Given the description of an element on the screen output the (x, y) to click on. 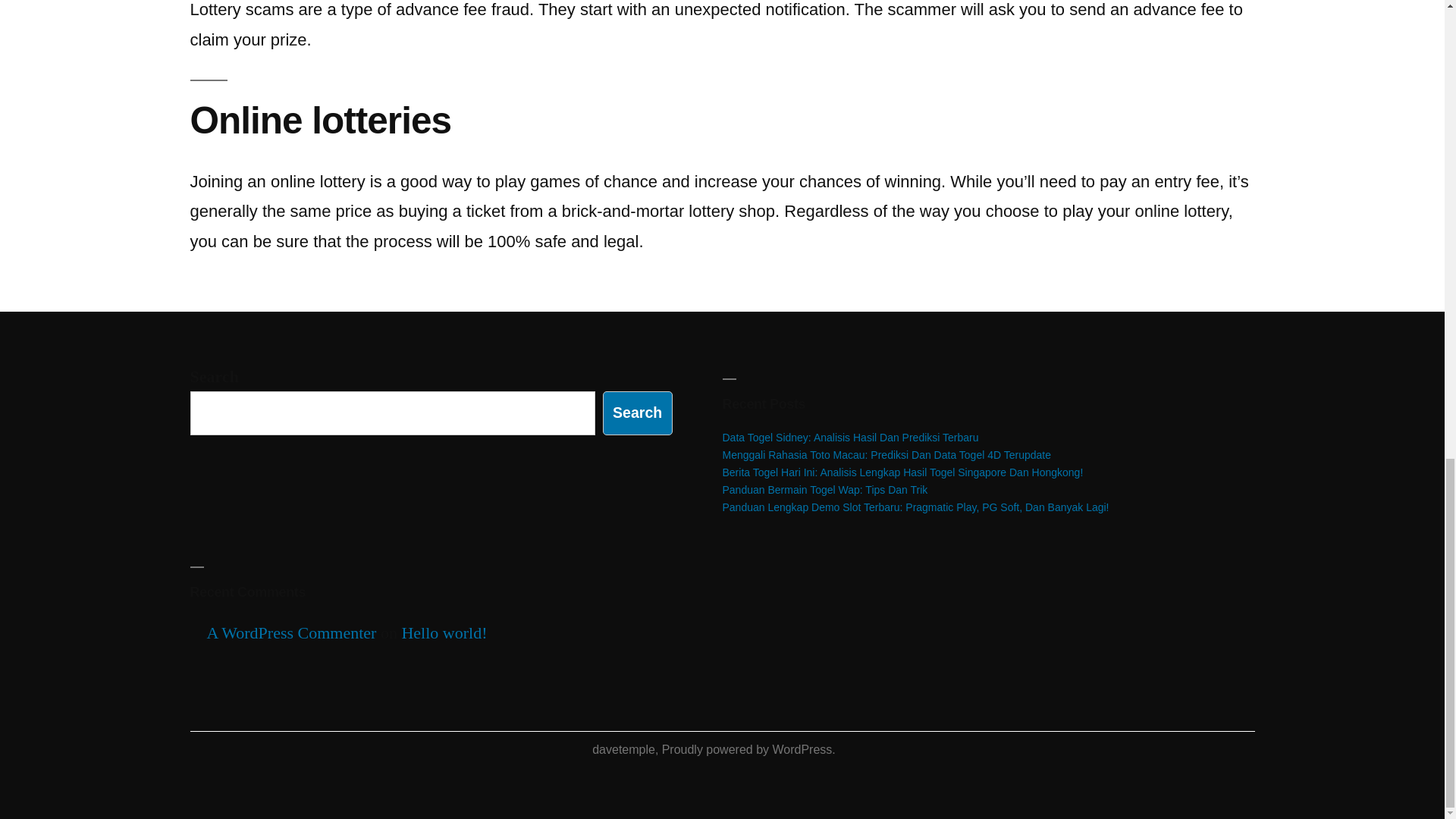
Panduan Bermain Togel Wap: Tips Dan Trik (824, 490)
Data Togel Sidney: Analisis Hasil Dan Prediksi Terbaru (850, 437)
davetemple (623, 748)
Proudly powered by WordPress. (748, 748)
Search (637, 412)
A WordPress Commenter (290, 632)
Hello world! (443, 632)
